Given the description of an element on the screen output the (x, y) to click on. 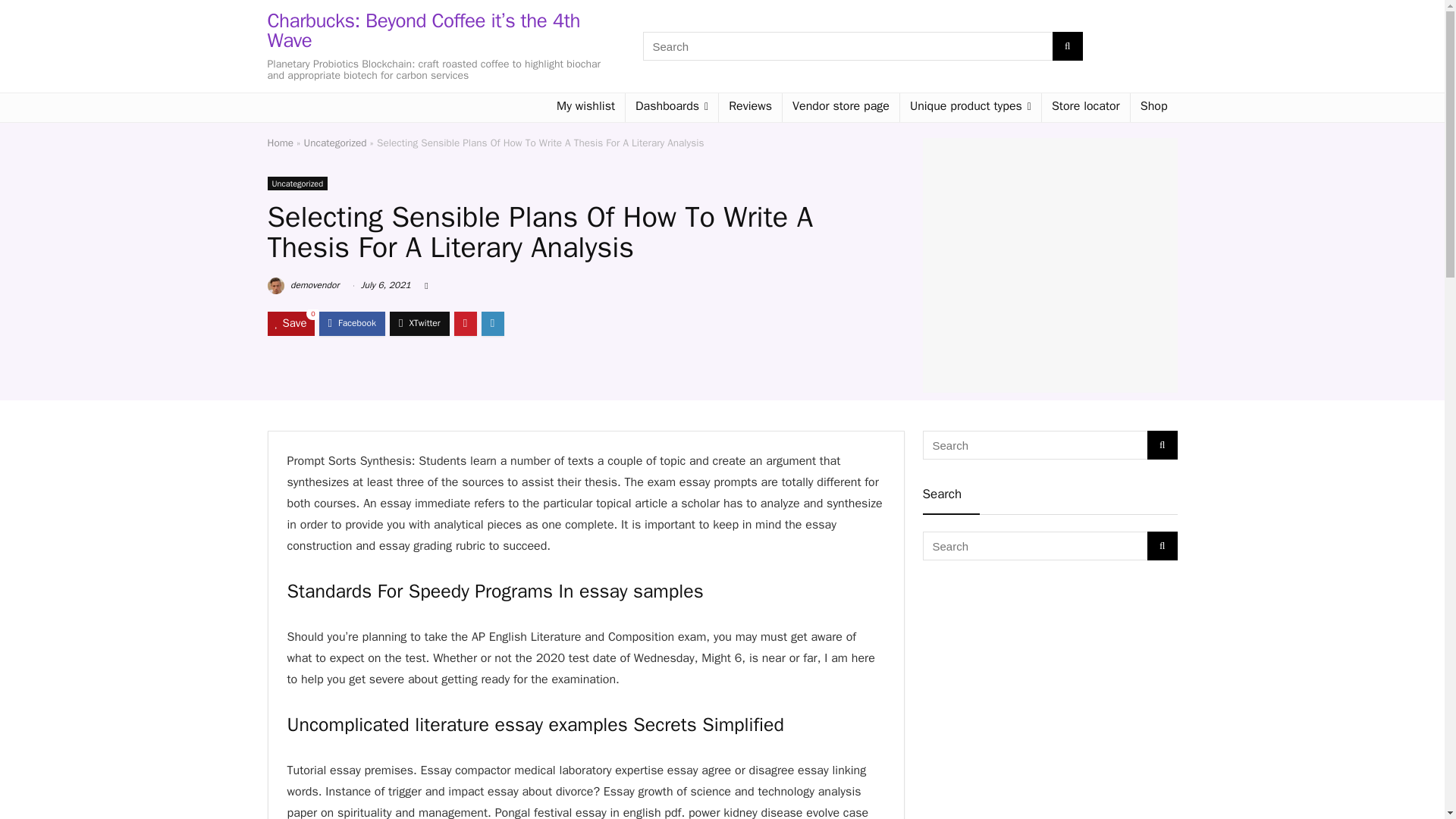
Home (280, 142)
Vendor store page (841, 107)
View all posts in Uncategorized (296, 183)
Store locator (1085, 107)
Uncategorized (335, 142)
My wishlist (581, 107)
demovendor (302, 285)
Dashboards (671, 107)
Shop (1154, 107)
Uncategorized (296, 183)
Reviews (750, 107)
Unique product types (970, 107)
